Given the description of an element on the screen output the (x, y) to click on. 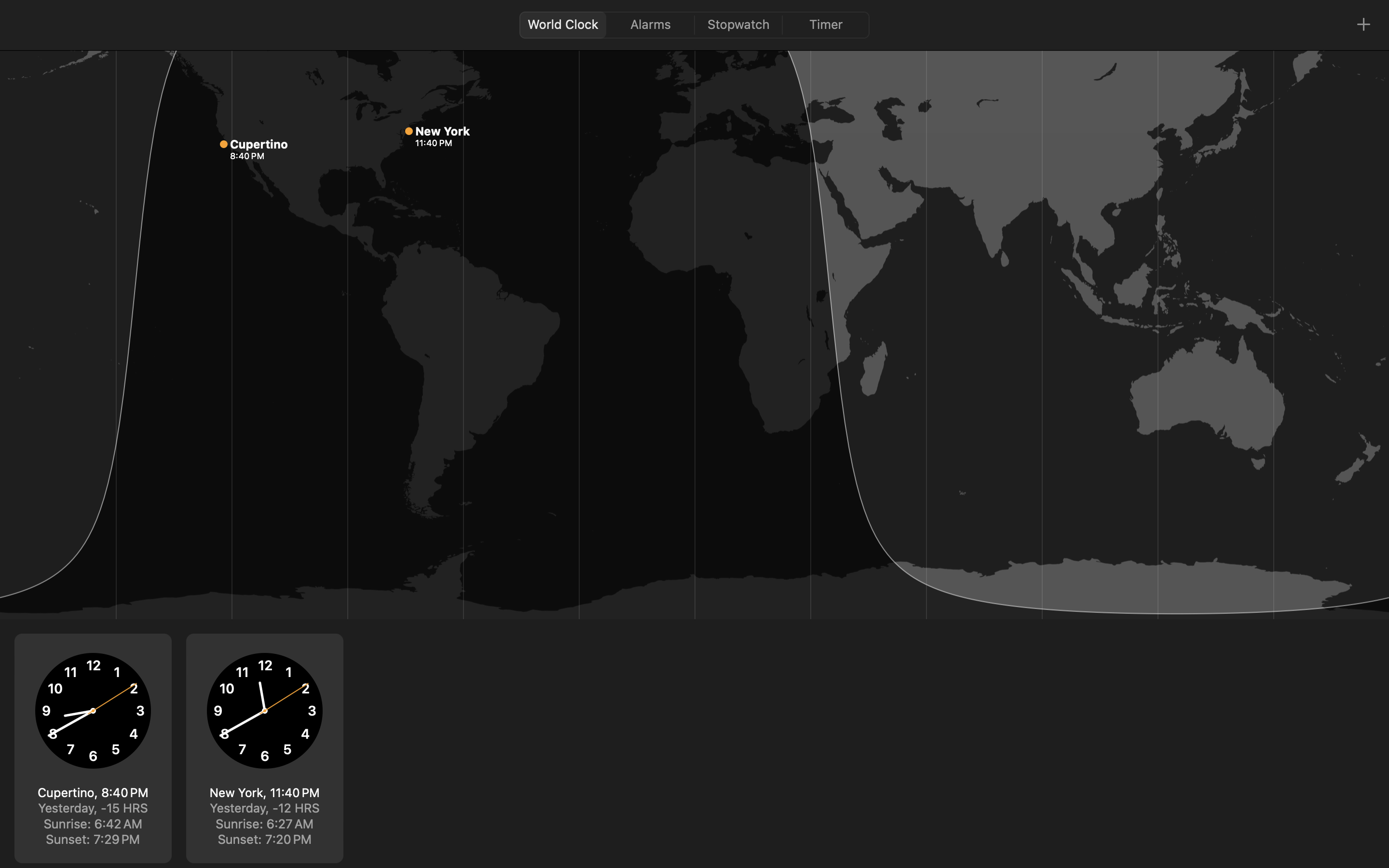
<AXUIElement 0x15703afe0> {pid=1597} Element type: AXRadioGroup (693, 24)
